Given the description of an element on the screen output the (x, y) to click on. 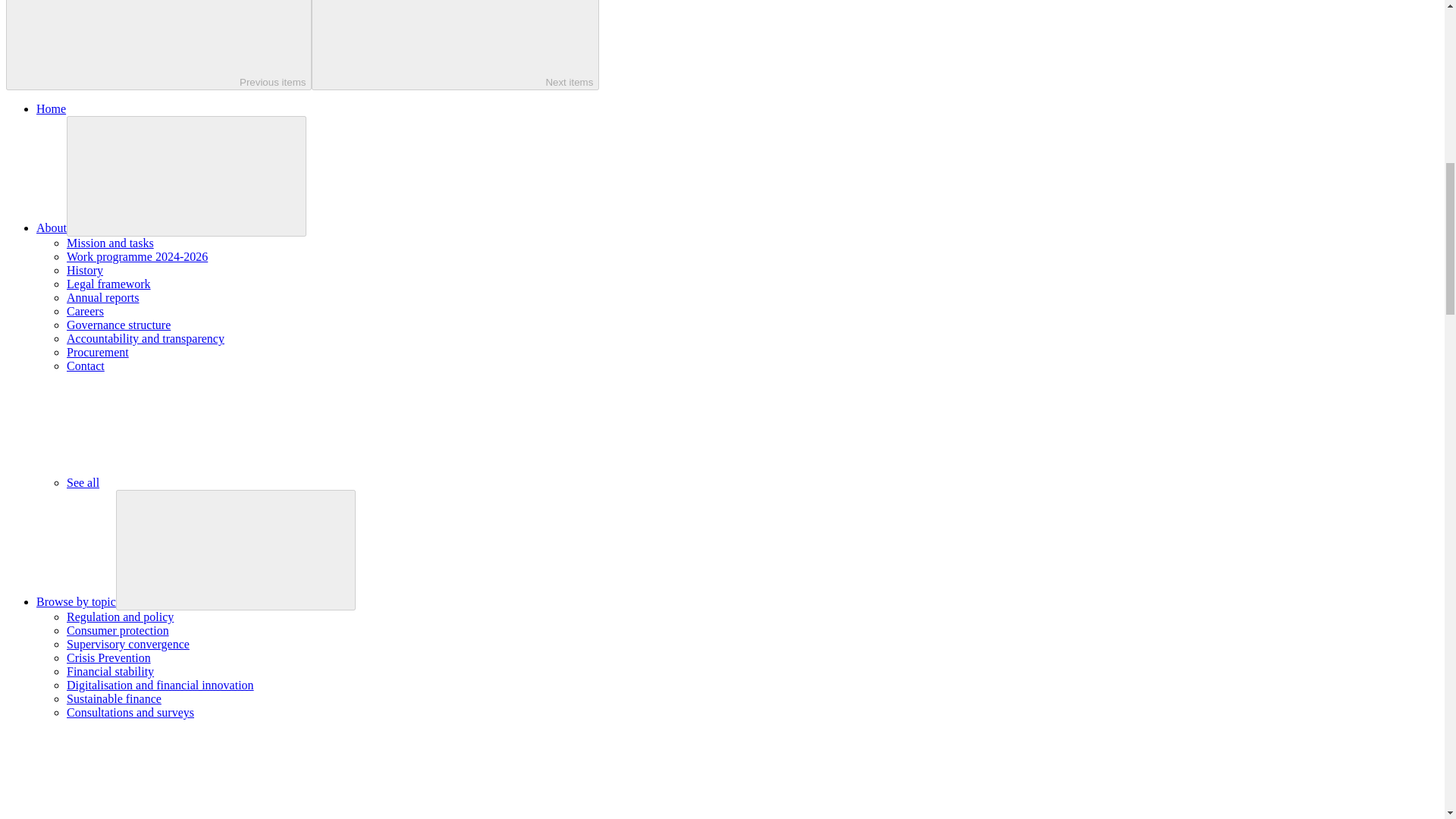
Financial stability (110, 671)
Supervisory convergence (127, 644)
Legal framework (108, 283)
Previous items (158, 45)
Work programme 2024-2026 (137, 256)
See all (196, 481)
Regulation and policy (119, 616)
Procurement (97, 351)
Contact (85, 365)
Governance structure (118, 324)
Browse by topic (76, 601)
Accountability and transparency (145, 338)
About (51, 227)
Crisis Prevention (108, 657)
Home (50, 108)
